Given the description of an element on the screen output the (x, y) to click on. 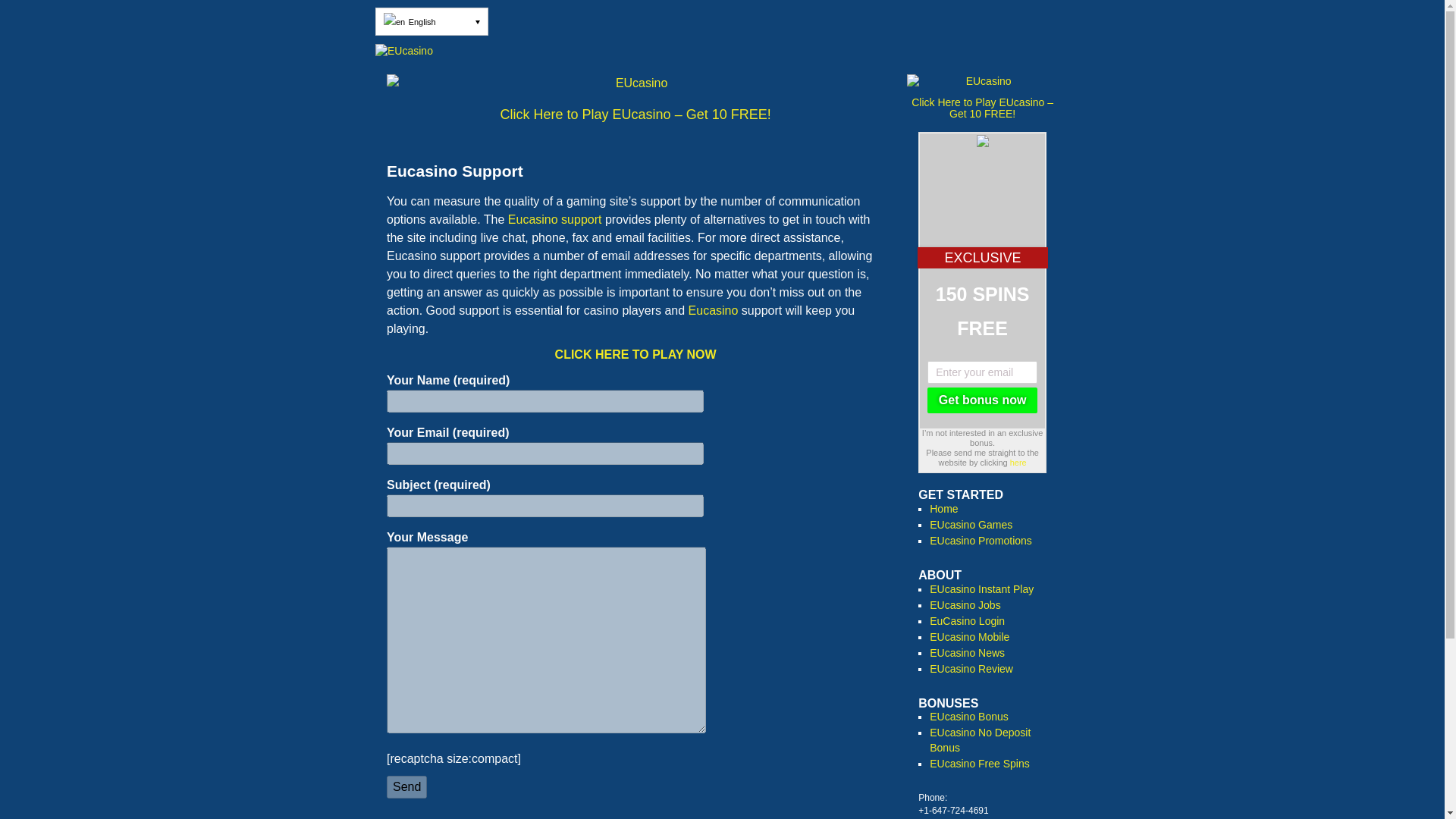
Send (406, 786)
English (394, 22)
English (431, 21)
CLICK HERE TO PLAY NOW (635, 354)
EUcasino (635, 86)
EUcasino Mobile (969, 636)
Eucasino (713, 309)
EUcasino Review (971, 668)
CLICK HERE TO PLAY NOW (635, 354)
EUcasino (721, 51)
